Given the description of an element on the screen output the (x, y) to click on. 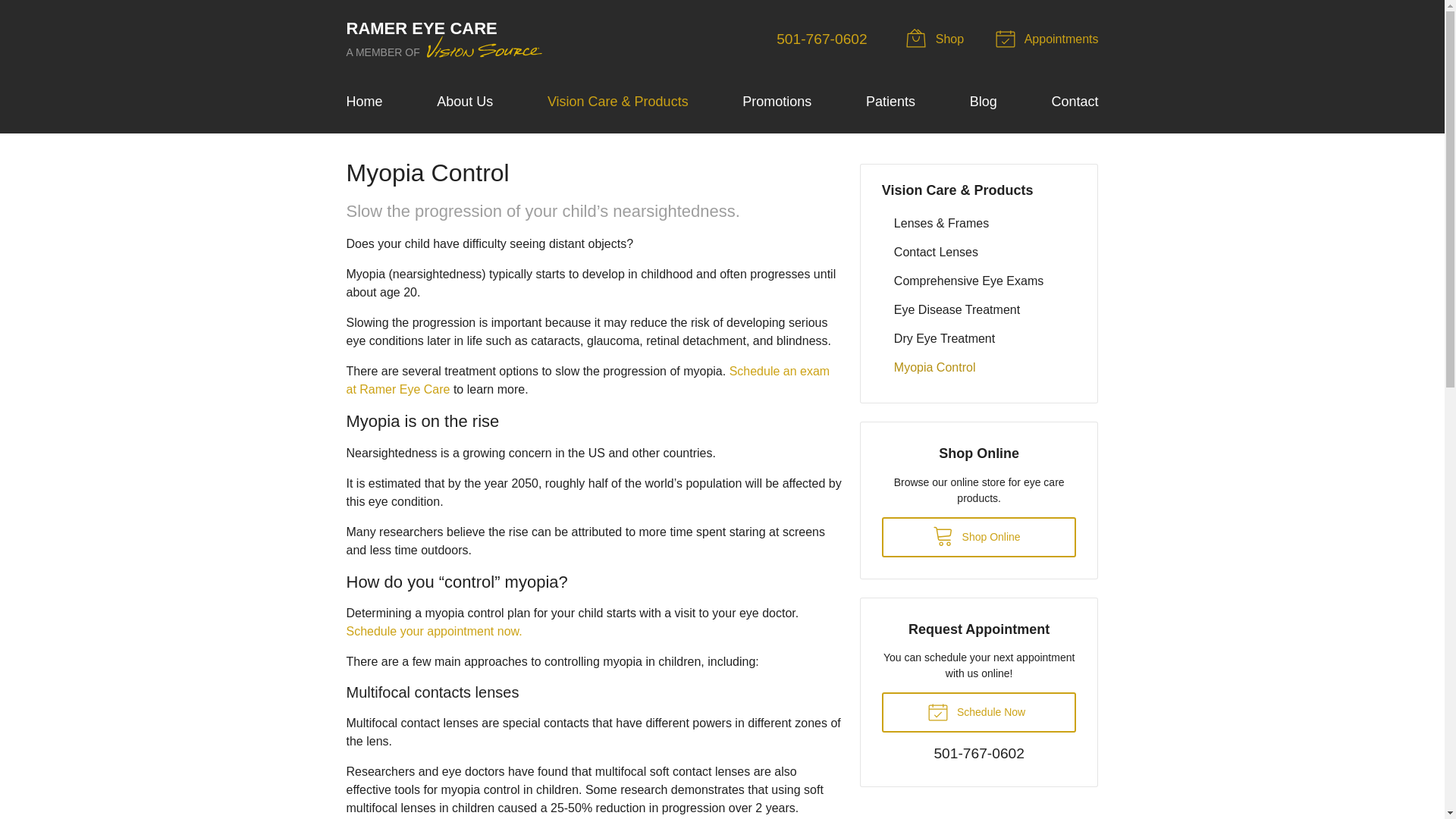
Shop Online (937, 39)
Shop (937, 39)
Appointments (1048, 39)
Shop Online (979, 536)
Comprehensive Eye Exams (979, 280)
Schedule an exam at Ramer Eye Care (587, 379)
Patients (890, 101)
Schedule Now (979, 712)
Shop Online (979, 536)
Eye Disease Treatment (979, 309)
Schedule Now (979, 712)
Ramer Eye Care (445, 39)
Request Appointment (1048, 39)
Home (363, 101)
Call practice (979, 754)
